Given the description of an element on the screen output the (x, y) to click on. 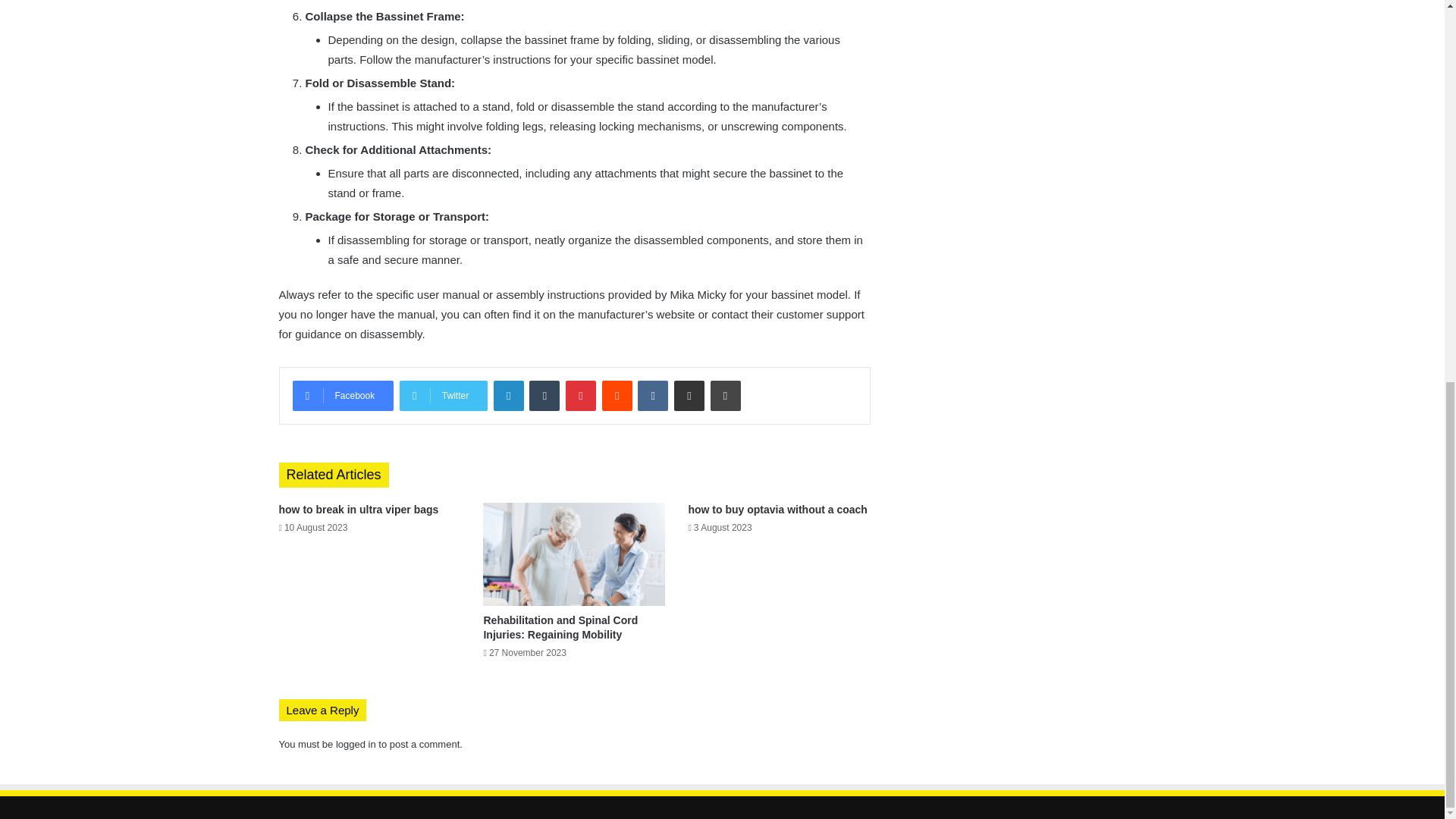
Rehabilitation and Spinal Cord Injuries: Regaining Mobility (560, 627)
Facebook (343, 395)
Reddit (616, 395)
Print (725, 395)
VKontakte (652, 395)
LinkedIn (508, 395)
Pinterest (580, 395)
Share via Email (689, 395)
Twitter (442, 395)
logged in (355, 744)
